Given the description of an element on the screen output the (x, y) to click on. 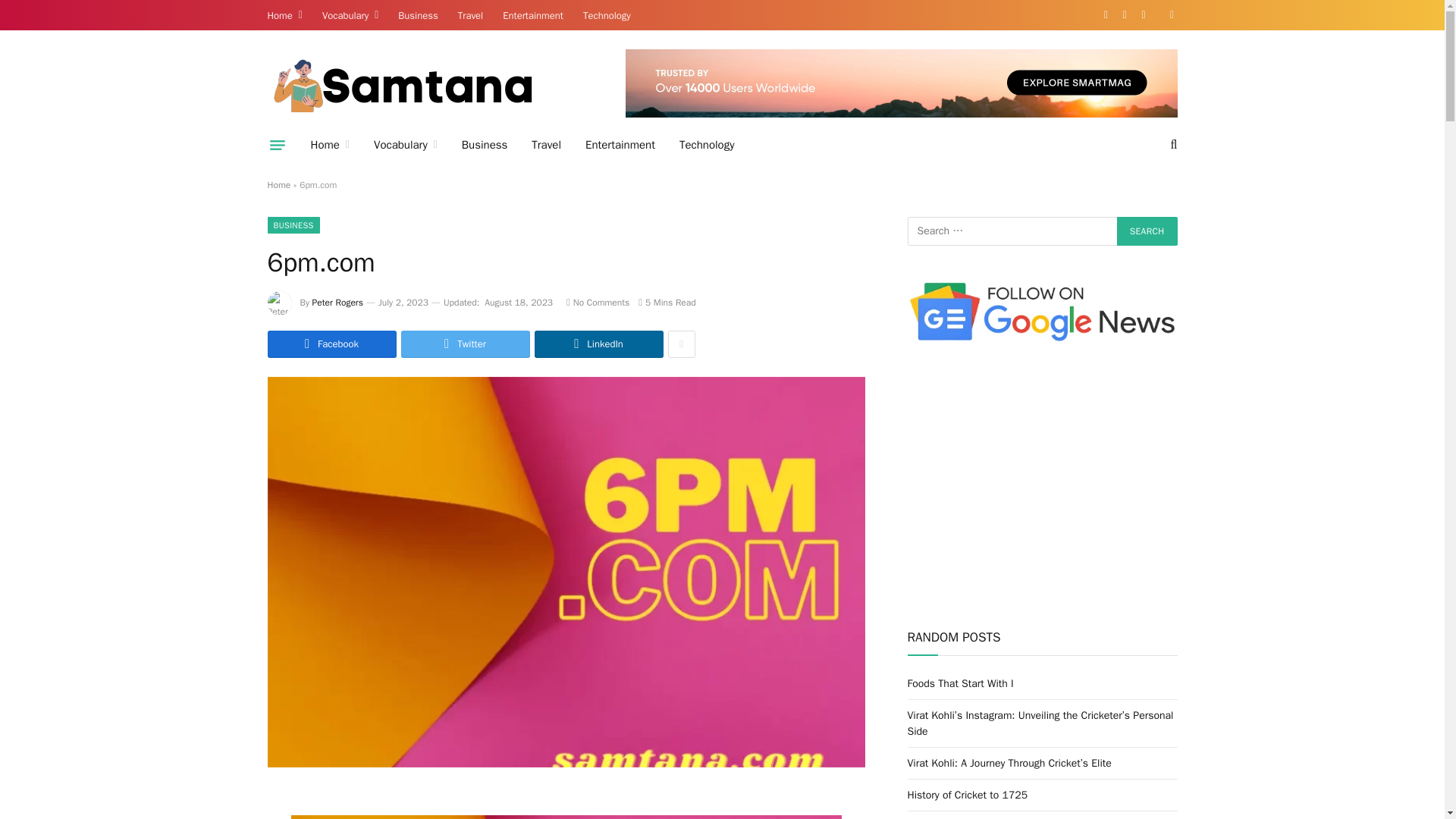
Posts by Peter Rogers (337, 302)
Technology (706, 144)
Business (484, 144)
Share on Facebook (331, 343)
Home (329, 144)
Vocabulary (405, 144)
Home (285, 15)
Travel (546, 144)
Travel (470, 15)
Share on LinkedIn (598, 343)
Samtana (399, 85)
Switch to Dark Design - easier on eyes. (1170, 14)
Entertainment (619, 144)
Technology (606, 15)
Search (1146, 231)
